Given the description of an element on the screen output the (x, y) to click on. 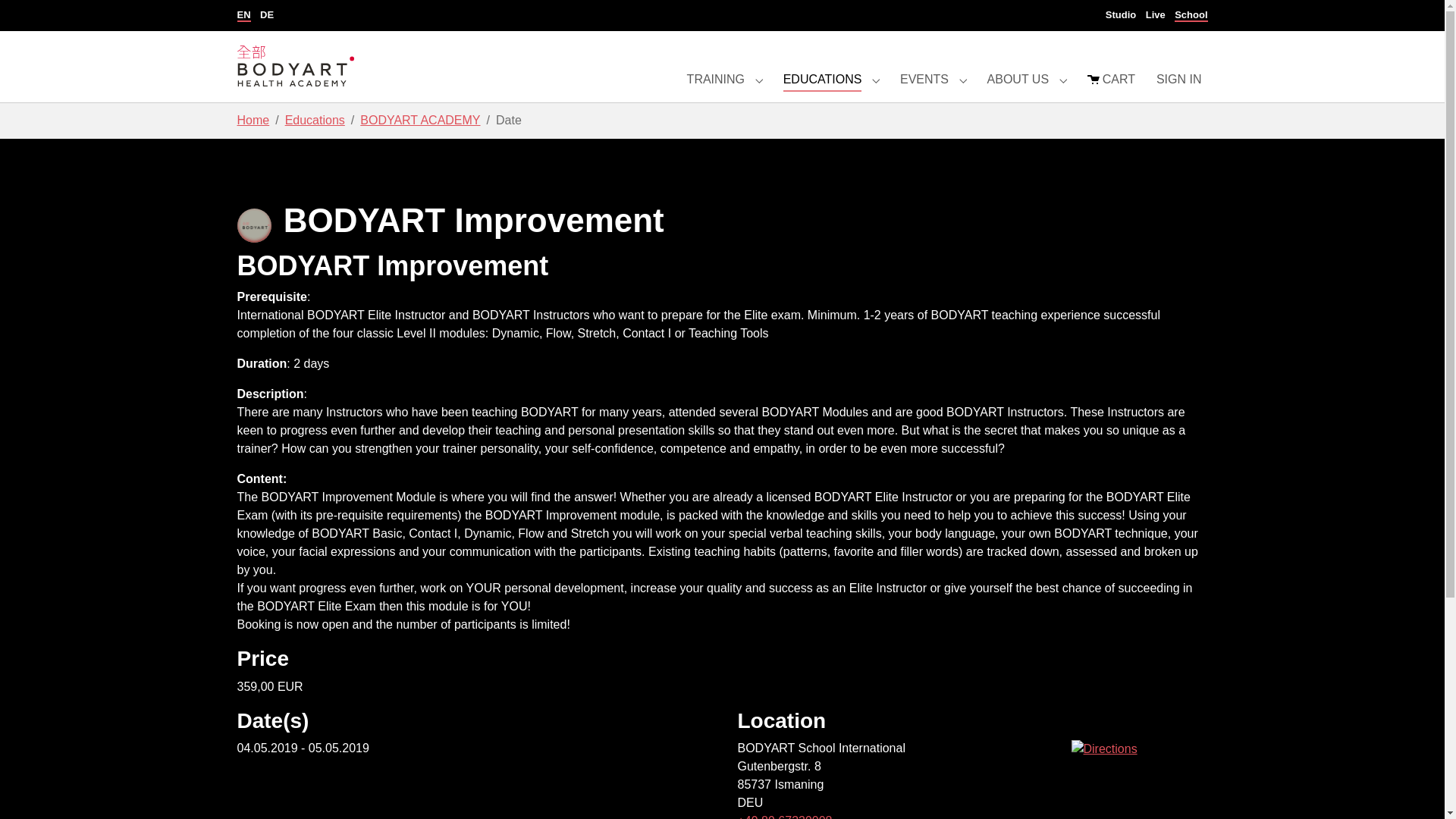
Home (252, 119)
BODYART ACADEMY (419, 119)
Home (252, 119)
SIGN IN (1179, 79)
Educations (315, 119)
Educations (315, 119)
Live (1155, 15)
EDUCATIONS (822, 79)
English (242, 15)
CART (1111, 79)
